Given the description of an element on the screen output the (x, y) to click on. 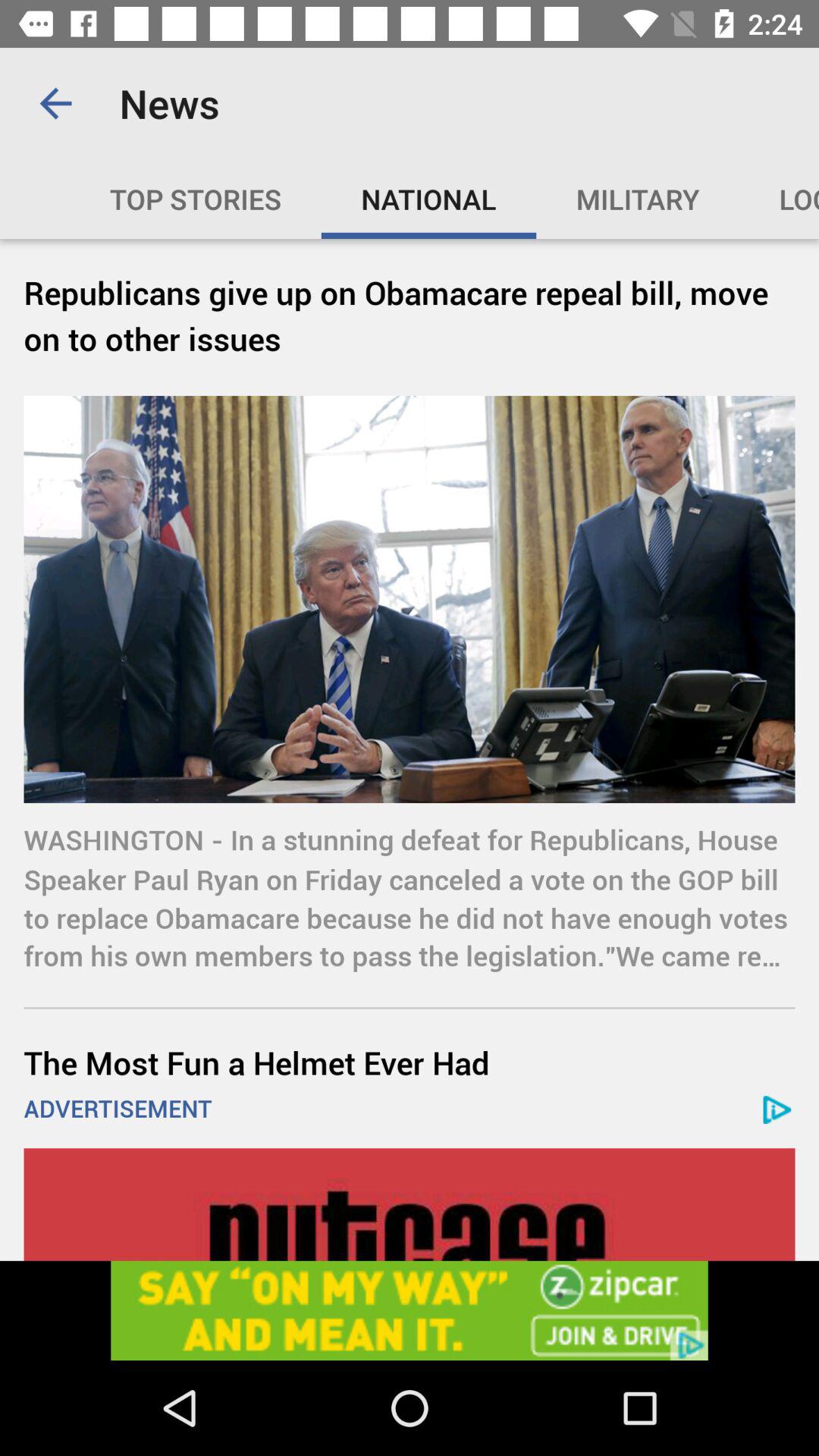
advertising (409, 1204)
